Given the description of an element on the screen output the (x, y) to click on. 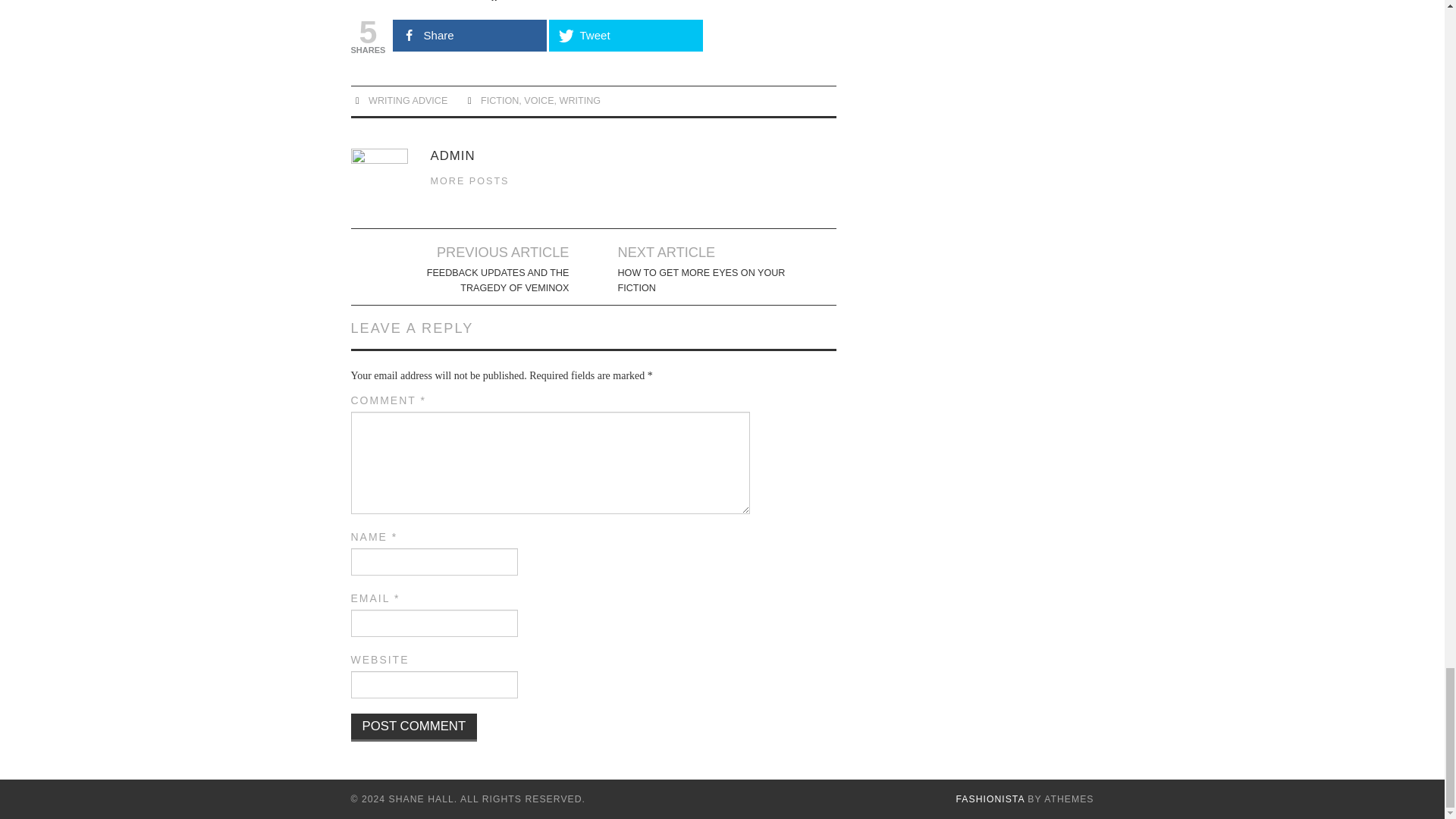
HOW TO GET MORE EYES ON YOUR FICTION (702, 280)
Tweet (625, 35)
MORE POSTS (469, 181)
Post Comment (413, 727)
VOICE (538, 100)
WRITING (580, 100)
FEEDBACK UPDATES AND THE TRAGEDY OF VEMINOX (483, 280)
FICTION (499, 100)
Share (470, 35)
Post Comment (413, 727)
